Given the description of an element on the screen output the (x, y) to click on. 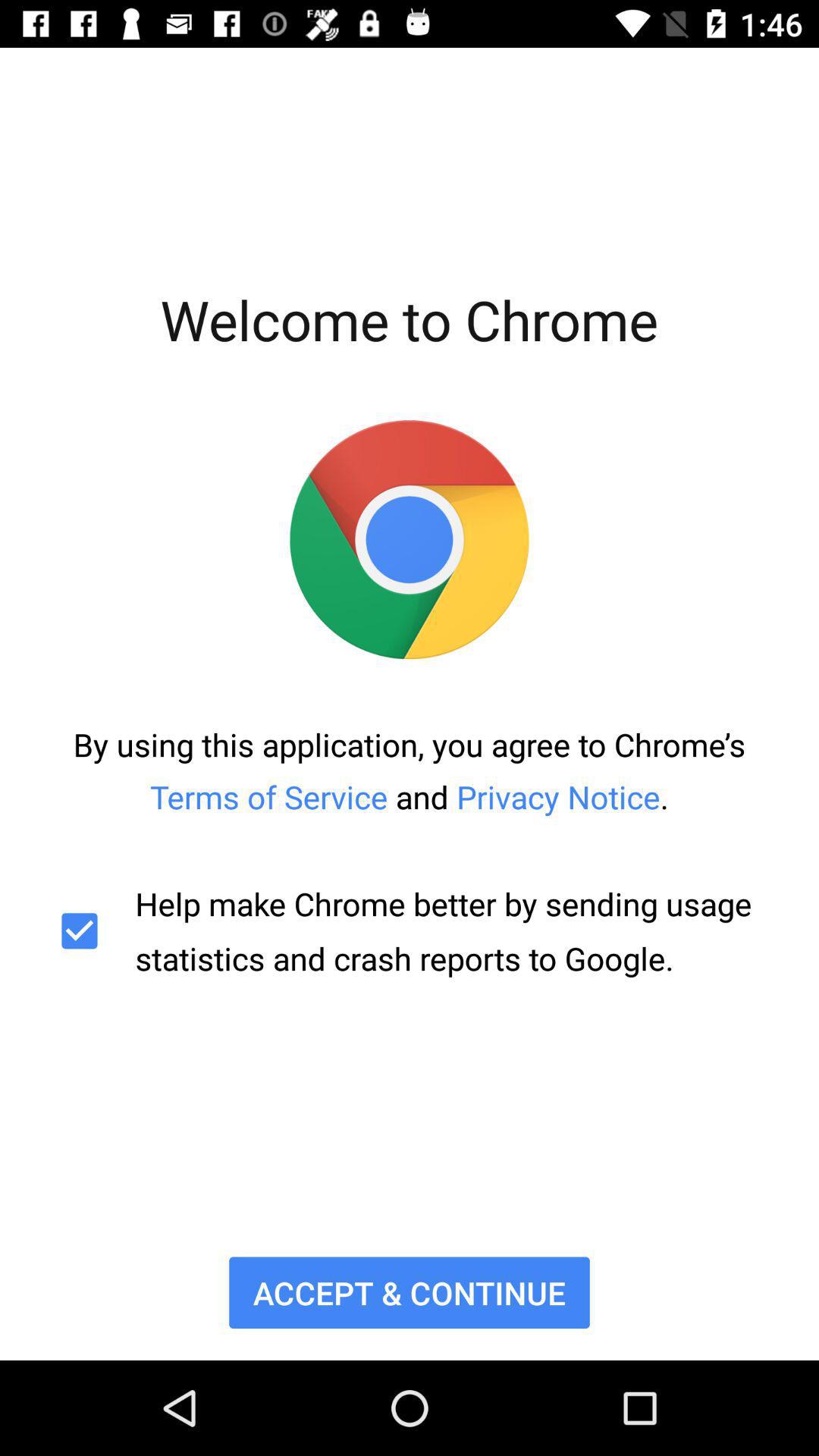
flip until the by using this icon (409, 770)
